Given the description of an element on the screen output the (x, y) to click on. 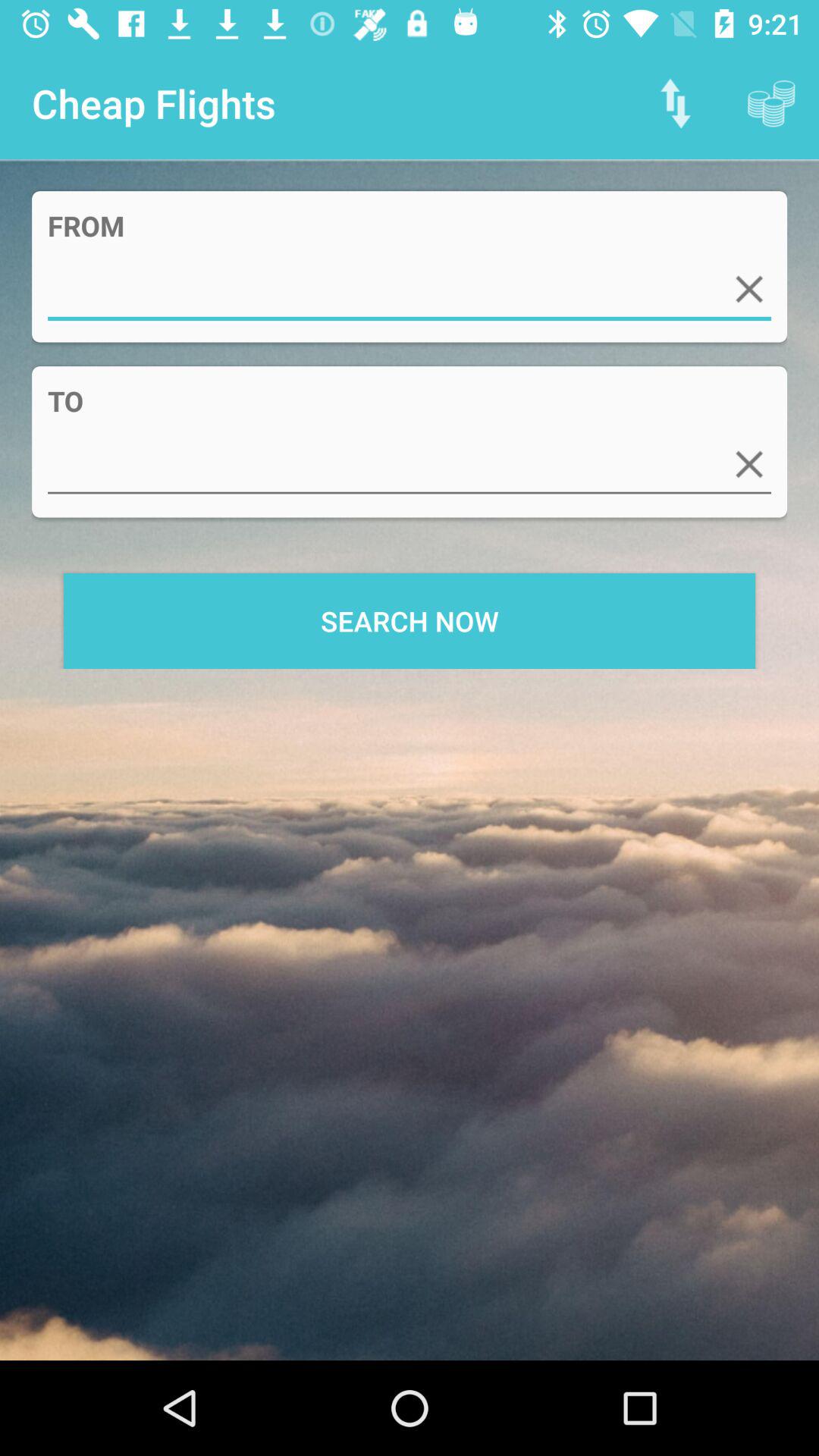
close button (749, 464)
